Given the description of an element on the screen output the (x, y) to click on. 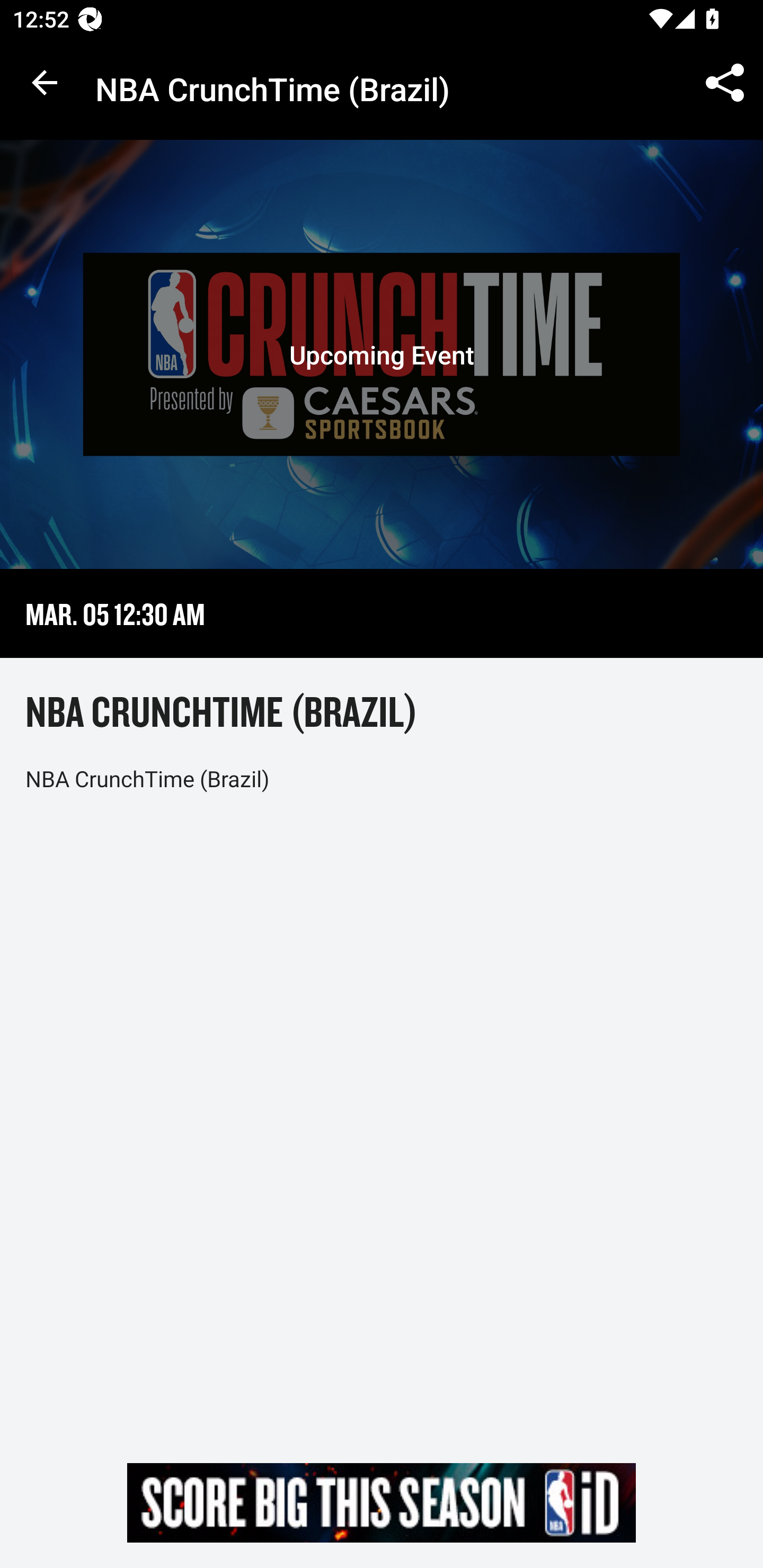
Navigate up (44, 82)
Share (724, 81)
MAR. 05 12:30 AM (115, 613)
